Given the description of an element on the screen output the (x, y) to click on. 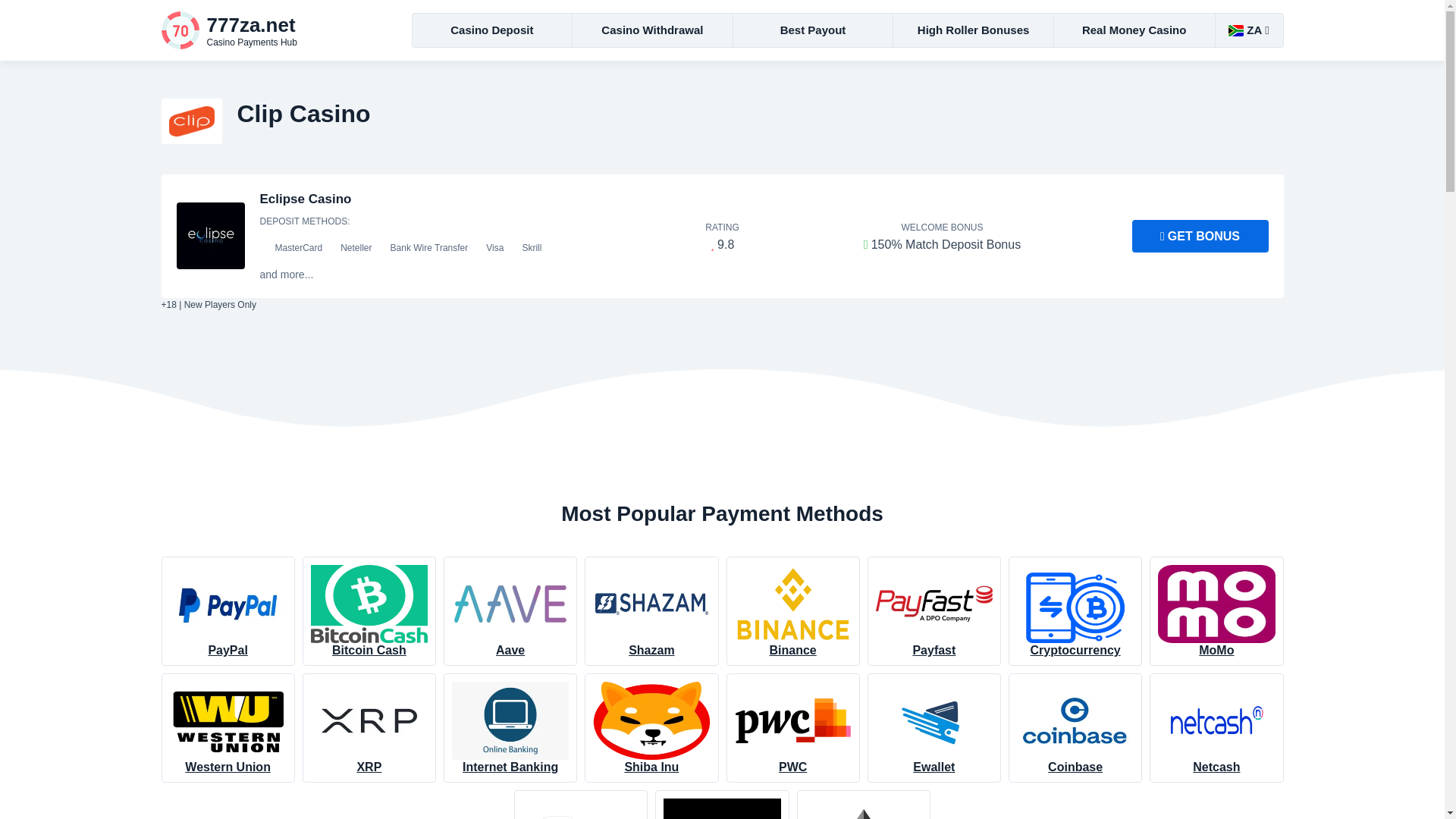
Casino Withdrawal (652, 29)
Real Money Casino (1134, 29)
Eclipse Casino (304, 198)
Bitcoin Cash (368, 610)
PayPal (227, 610)
ZA (1248, 29)
Aave (510, 610)
High Roller Bonuses (973, 29)
Casino Deposit (492, 29)
GET BONUS (1199, 236)
Shazam (651, 610)
Best Payout (813, 29)
Eclipse Casino (274, 30)
